Given the description of an element on the screen output the (x, y) to click on. 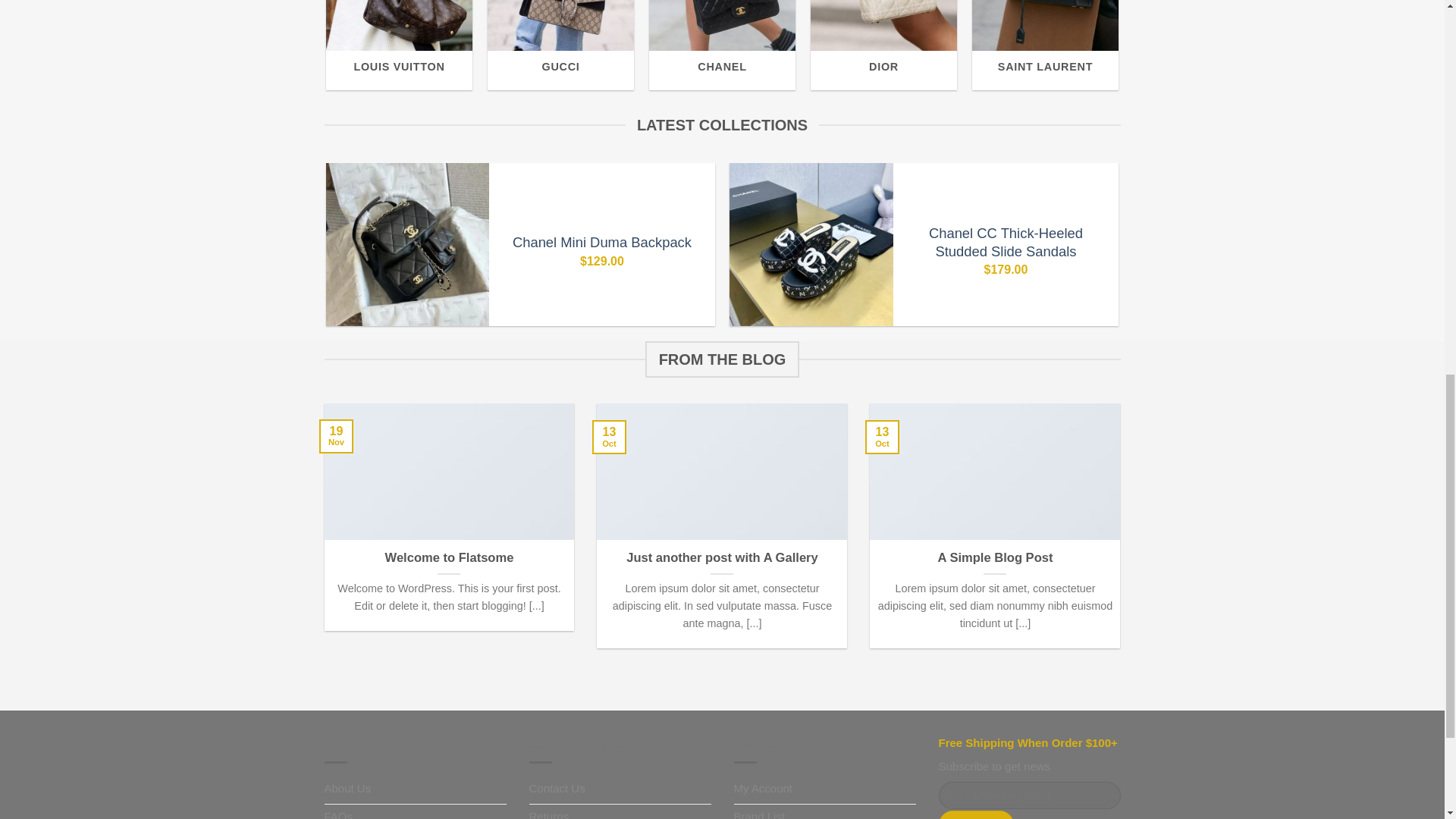
GUCCI (560, 45)
LOUIS VUITTON (398, 45)
Sign Up (976, 814)
SAINT LAURENT (1045, 45)
DIOR (883, 45)
Chanel Mini Duma Backpack (601, 242)
CHANEL (721, 45)
